Given the description of an element on the screen output the (x, y) to click on. 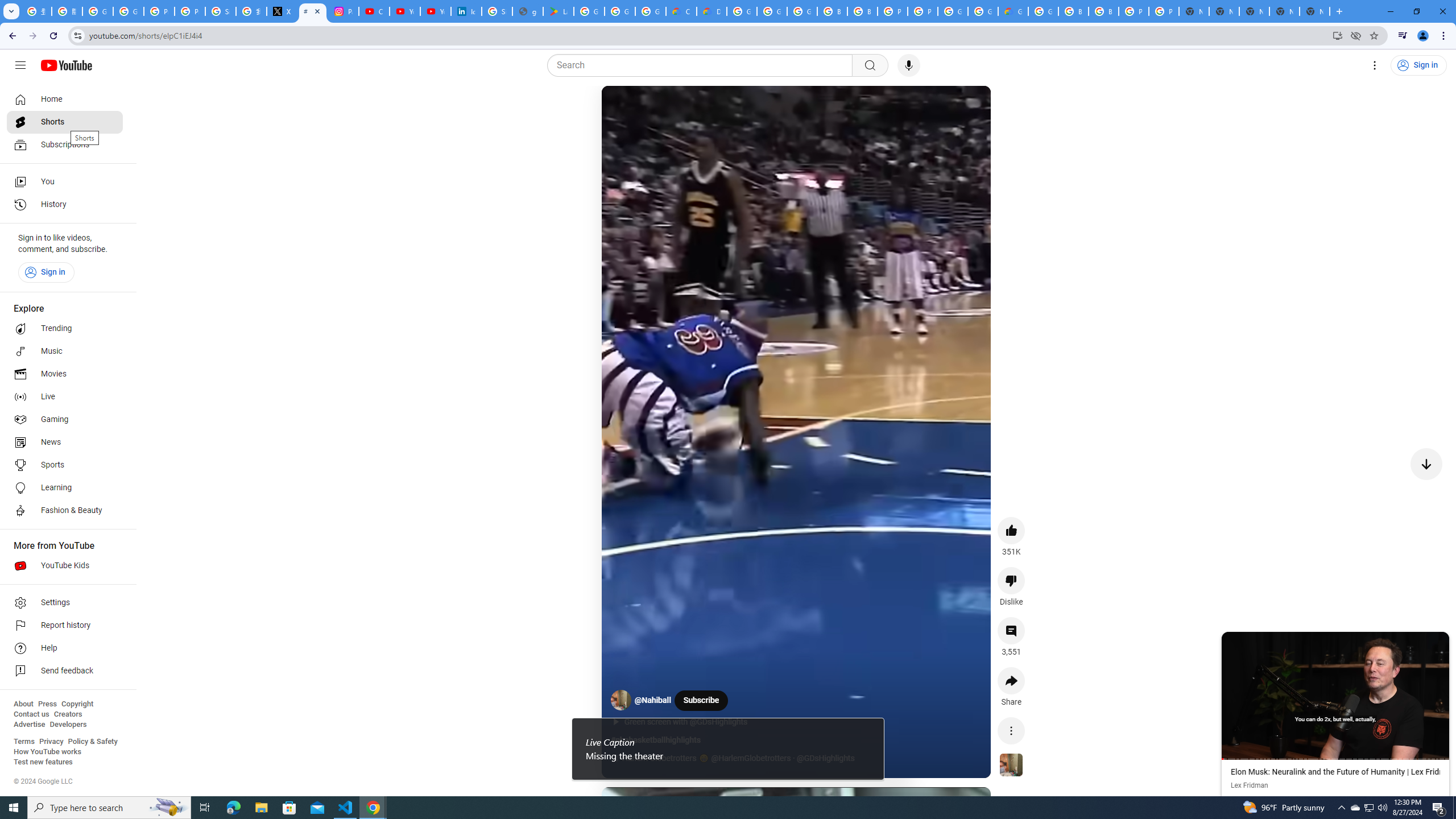
Sports (64, 464)
Subscribe (701, 700)
Browse Chrome as a guest - Computer - Google Chrome Help (832, 11)
Control your music, videos, and more (1402, 35)
Browse Chrome as a guest - Computer - Google Chrome Help (862, 11)
New Tab (1314, 11)
Advertise (29, 724)
How YouTube works (47, 751)
Pause (k) (623, 108)
@Nahiball (653, 700)
Last Shelter: Survival - Apps on Google Play (558, 11)
Home (64, 99)
